Given the description of an element on the screen output the (x, y) to click on. 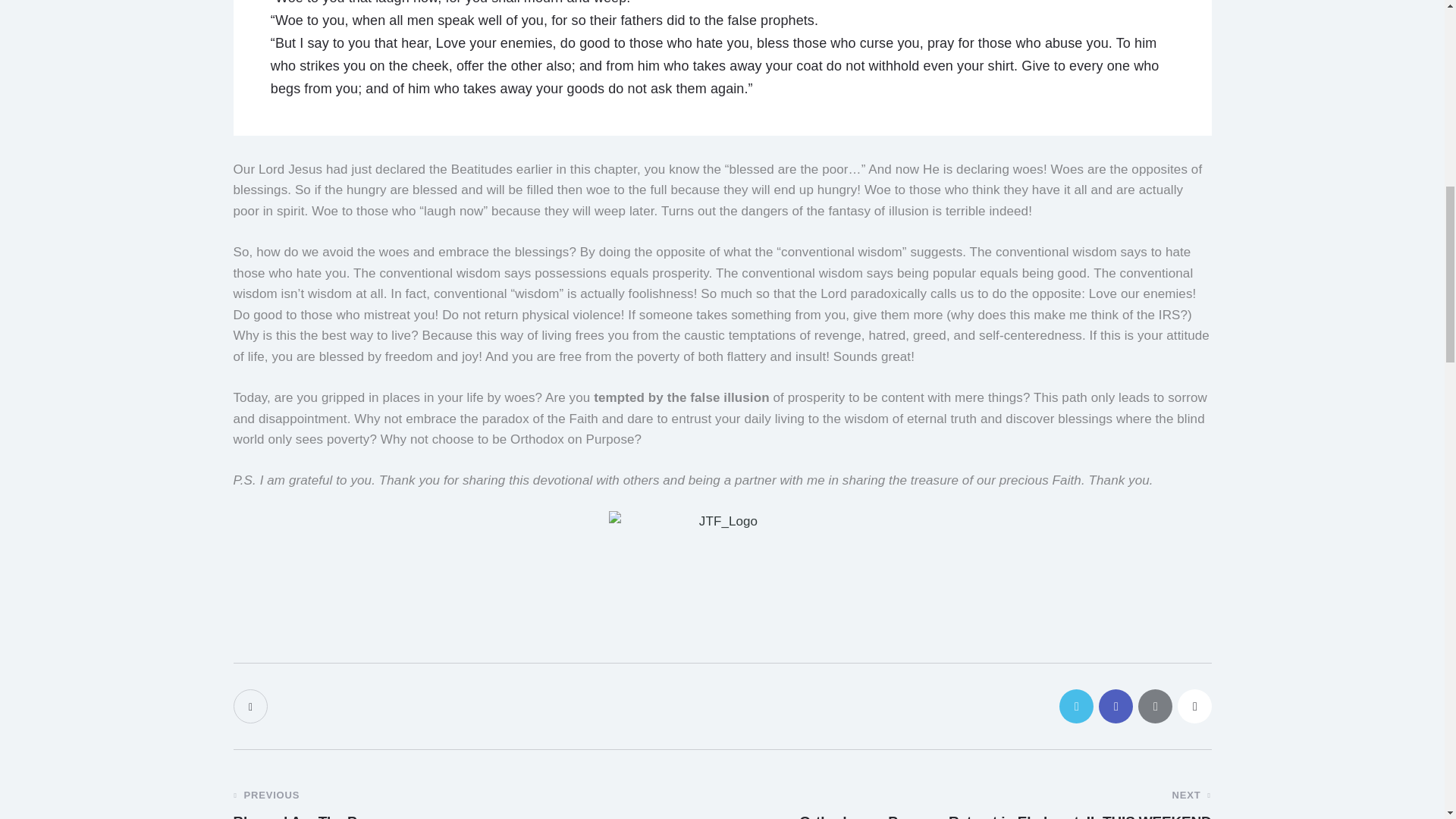
Like (251, 706)
Copy URL to clipboard (1193, 706)
